Given the description of an element on the screen output the (x, y) to click on. 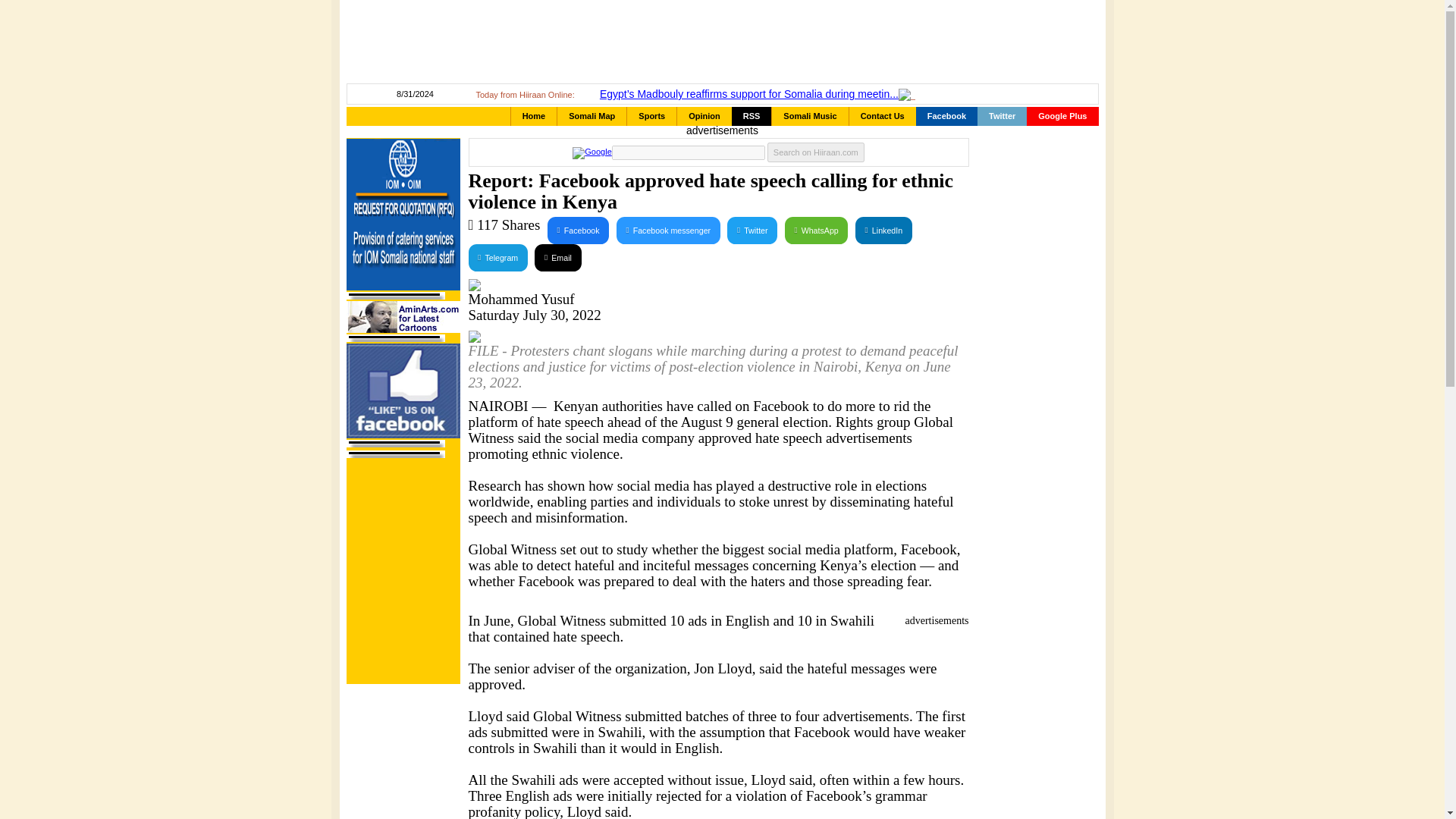
Email (557, 257)
Email (557, 257)
Twitter (751, 230)
Hiiraan Online (470, 41)
LinkedIn (884, 230)
Facebook (577, 230)
WhatsApp (816, 230)
Telegram (497, 257)
Telegram (497, 257)
Contact Us (881, 116)
